Given the description of an element on the screen output the (x, y) to click on. 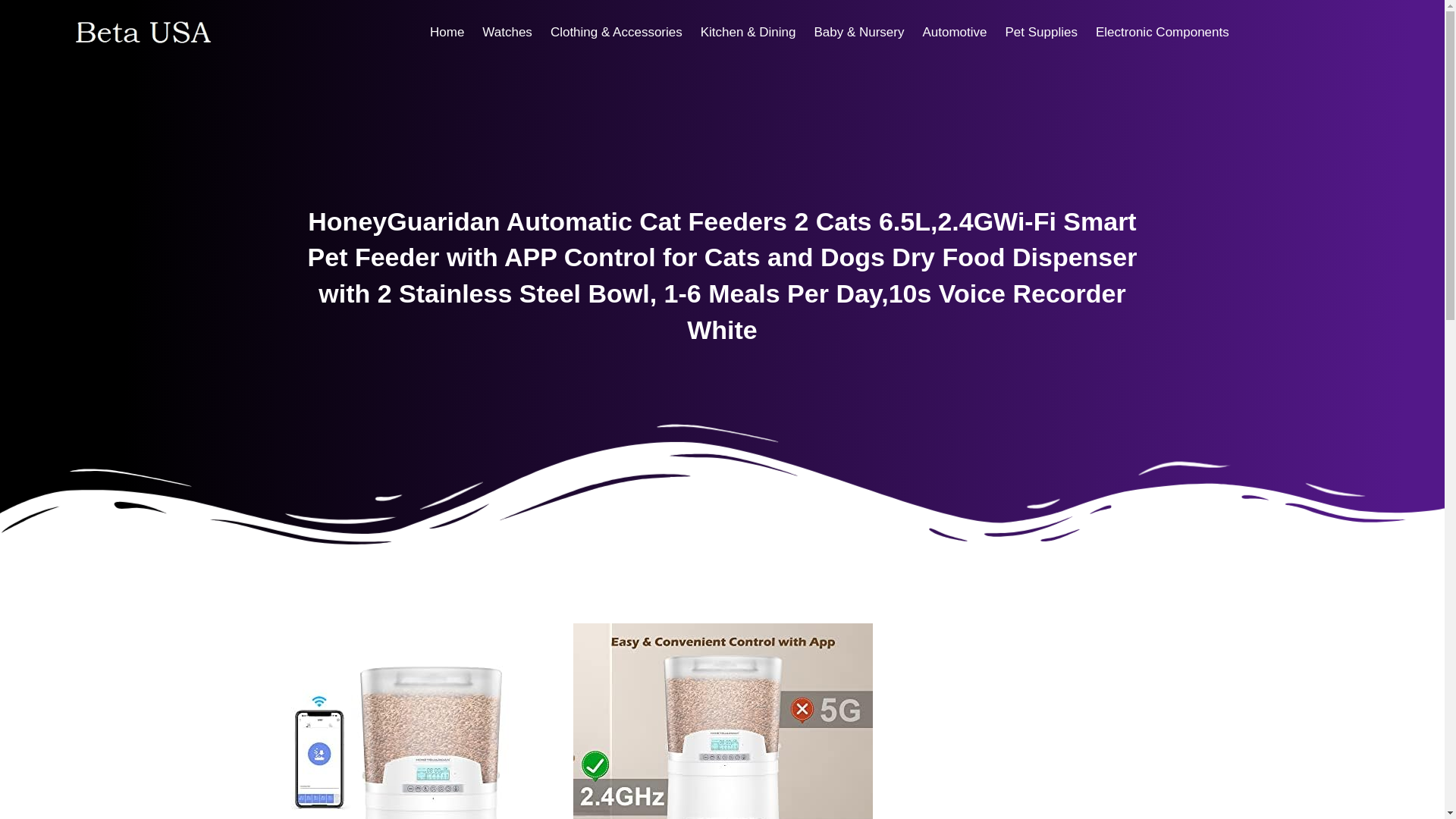
Pet Supplies (1040, 32)
Watches (507, 32)
Electronic Components (1162, 32)
Automotive (953, 32)
Home (446, 32)
